Given the description of an element on the screen output the (x, y) to click on. 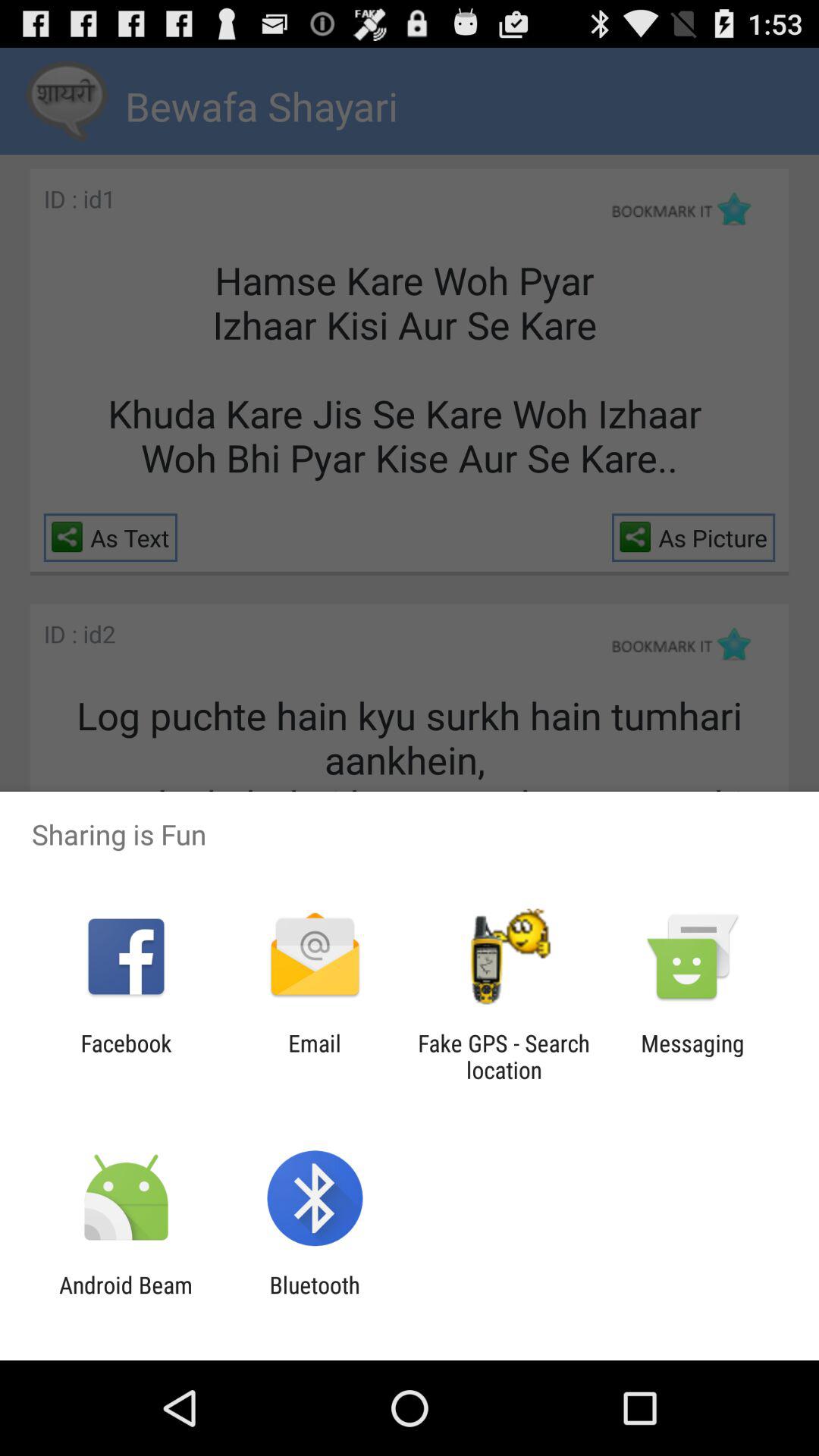
scroll until messaging icon (692, 1056)
